Given the description of an element on the screen output the (x, y) to click on. 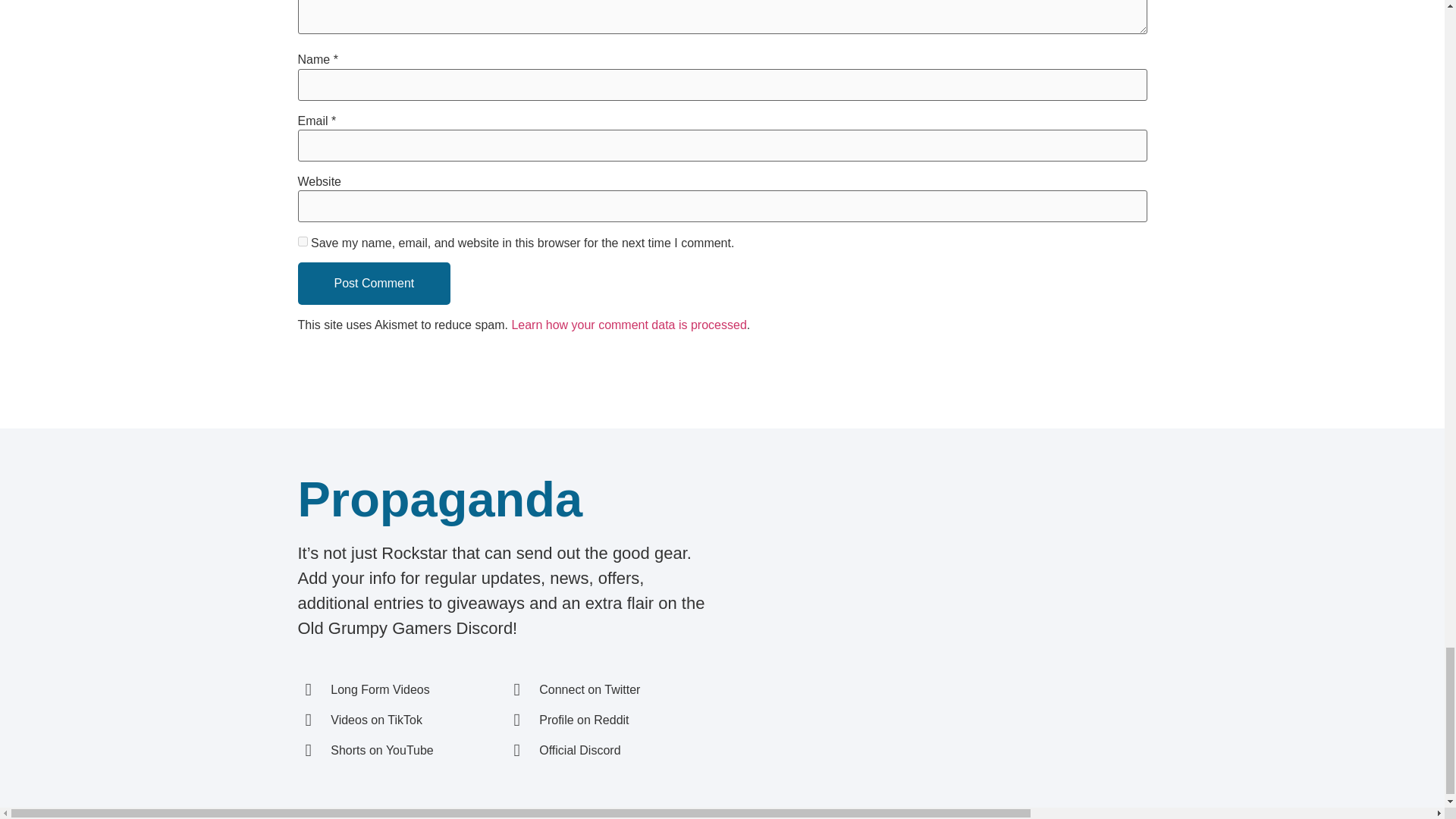
yes (302, 241)
Post Comment (373, 283)
